Given the description of an element on the screen output the (x, y) to click on. 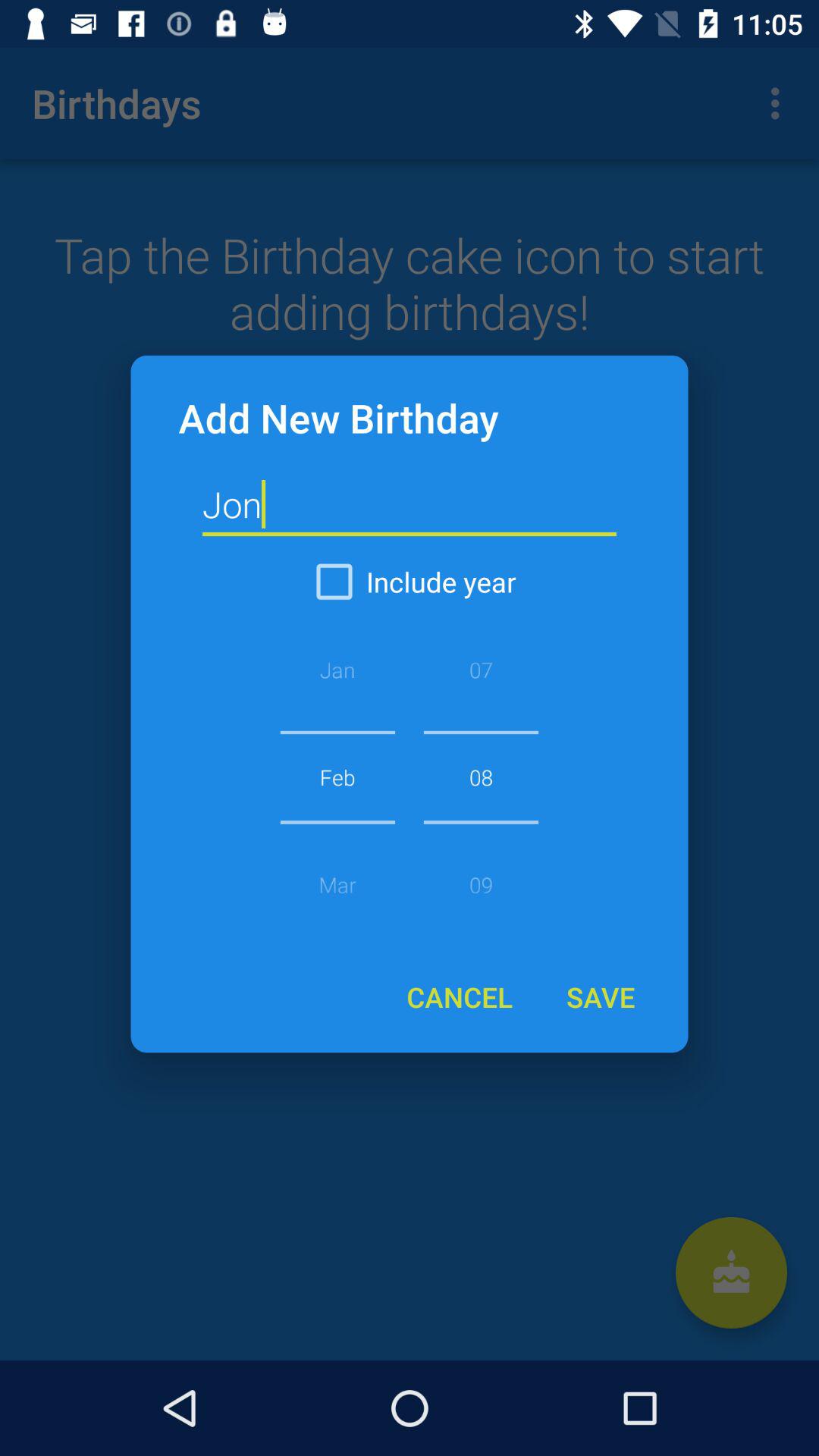
tap the icon below 08 (459, 996)
